Given the description of an element on the screen output the (x, y) to click on. 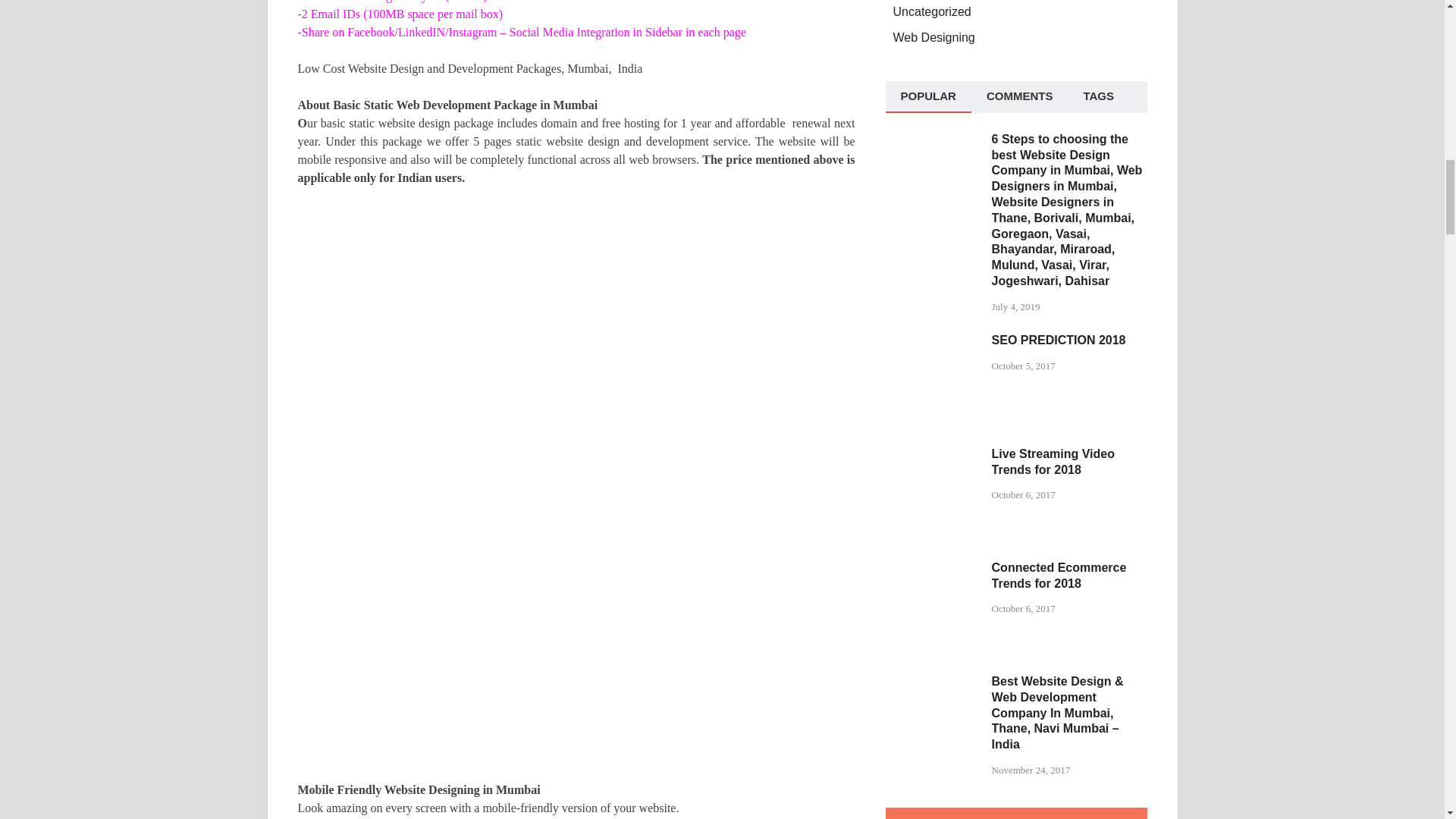
Connected Ecommerce Trends for 2018 (932, 568)
SEO PREDICTION 2018 (932, 341)
Live Streaming Video Trends for 2018 (932, 454)
